Given the description of an element on the screen output the (x, y) to click on. 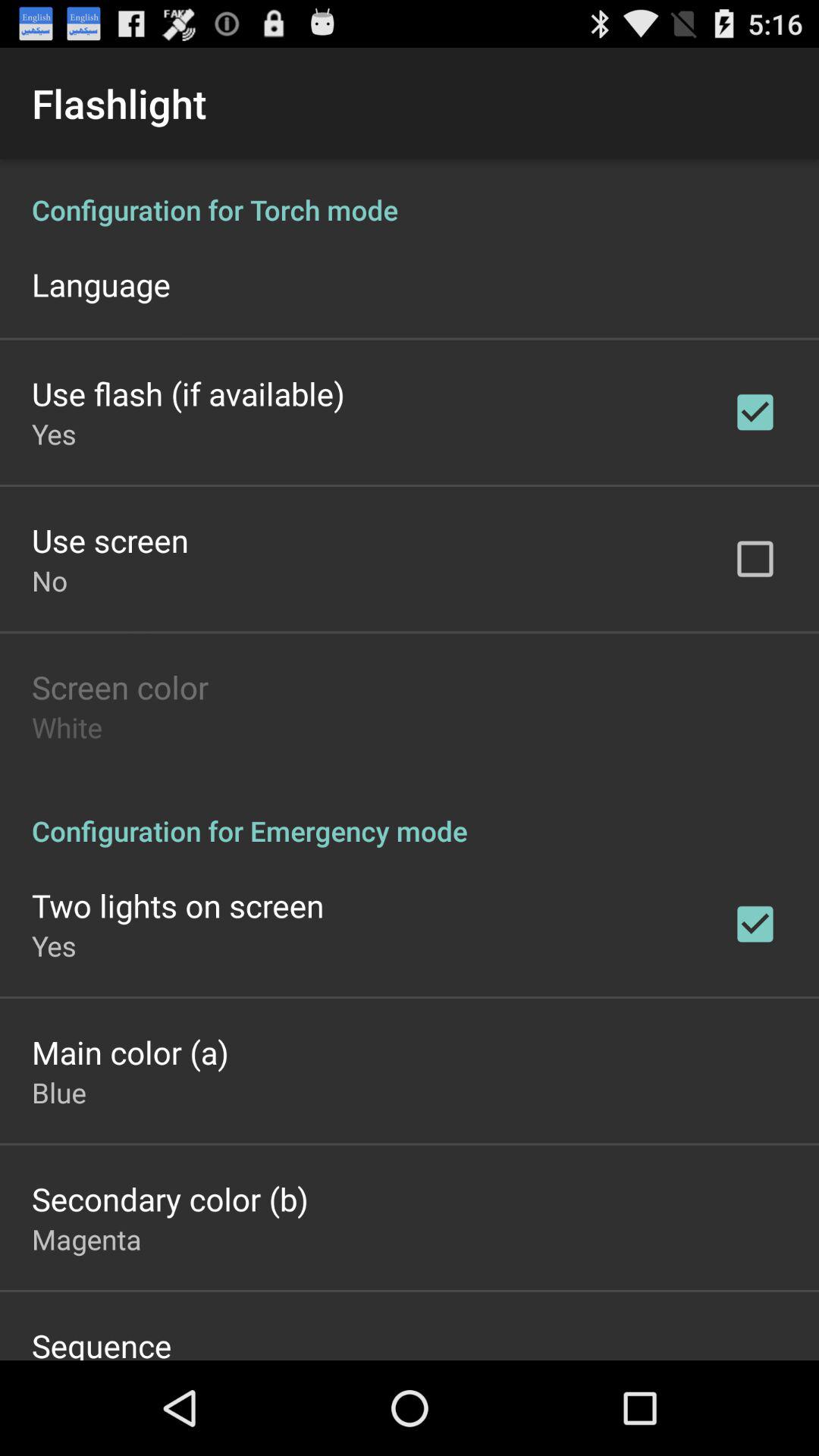
launch icon above the yes app (177, 905)
